Given the description of an element on the screen output the (x, y) to click on. 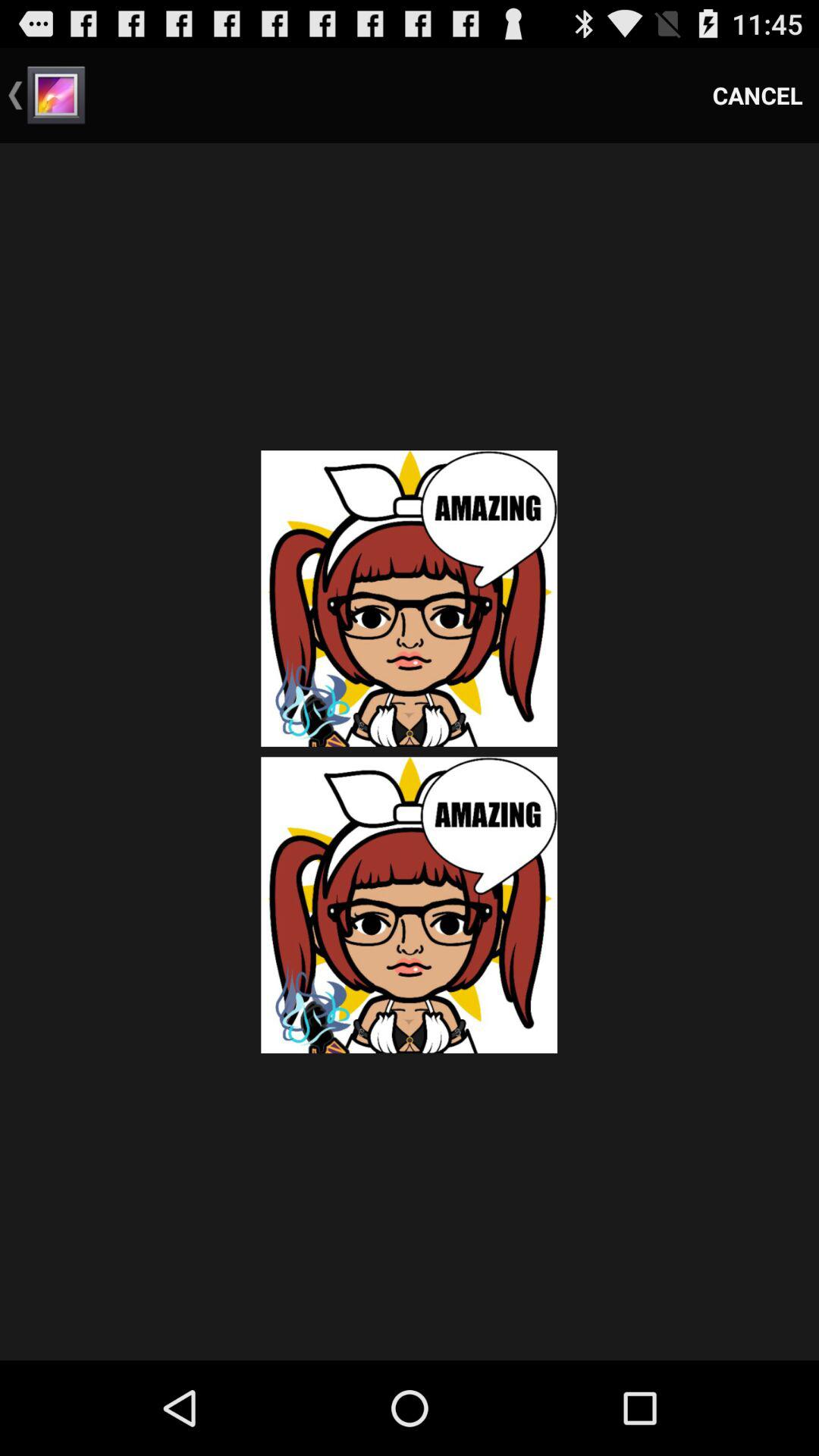
choose the cancel (757, 95)
